Given the description of an element on the screen output the (x, y) to click on. 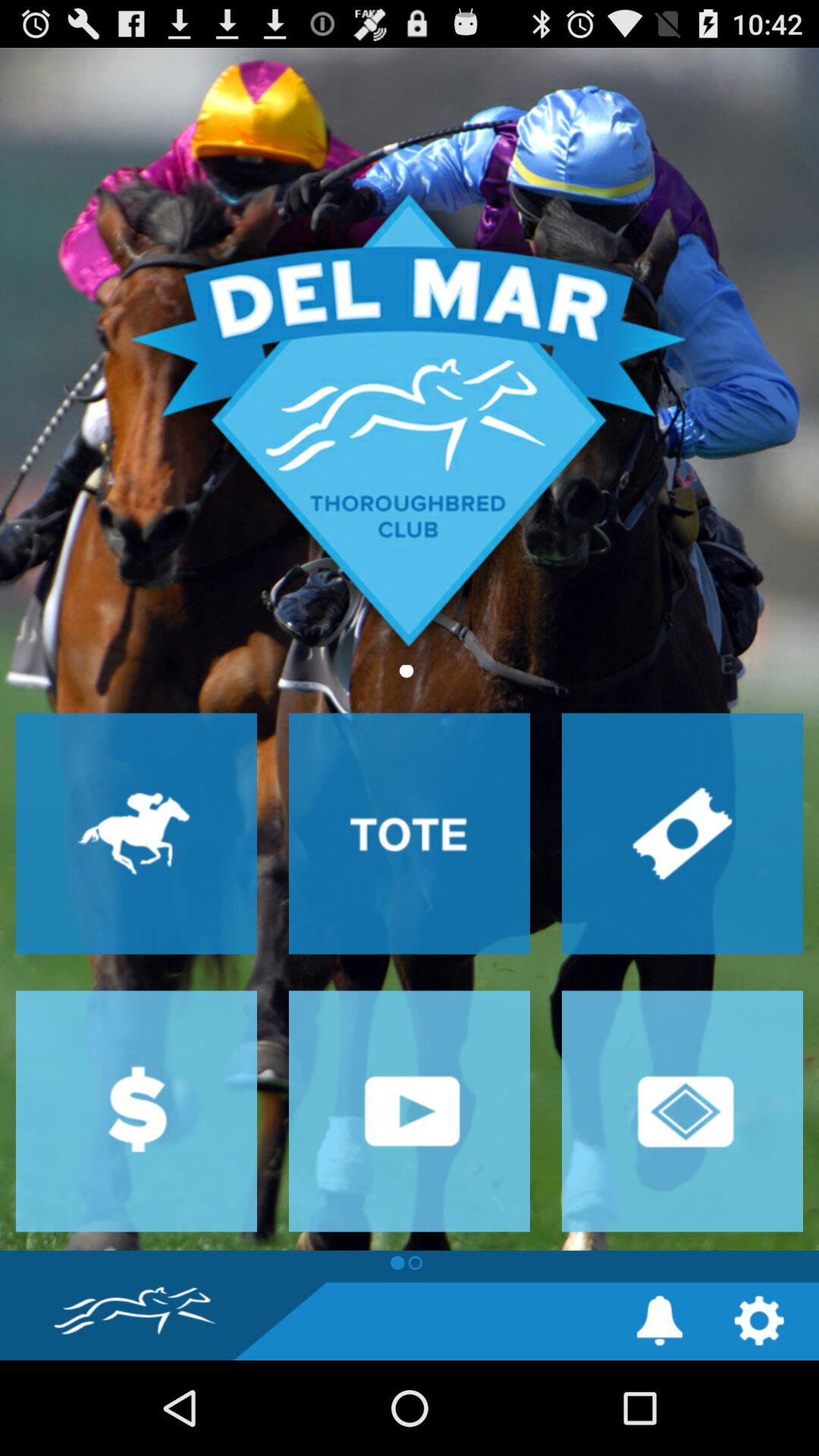
settings (759, 1320)
